Given the description of an element on the screen output the (x, y) to click on. 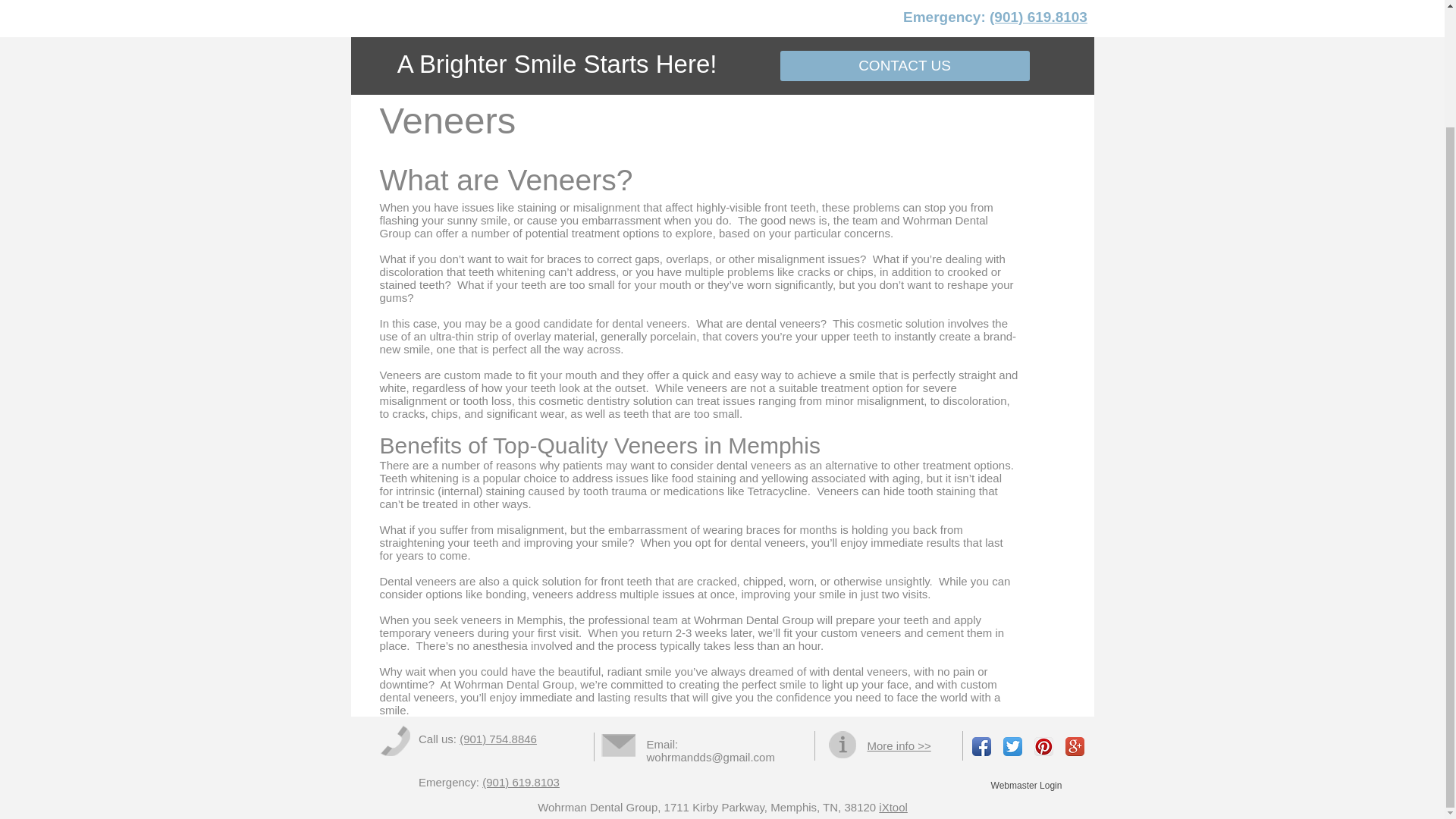
Embedded Content (499, 740)
Webmaster Login (1026, 785)
Embedded Content (499, 783)
CONTACT US (903, 65)
iXtool (893, 807)
Embedded Content (1002, 19)
